Given the description of an element on the screen output the (x, y) to click on. 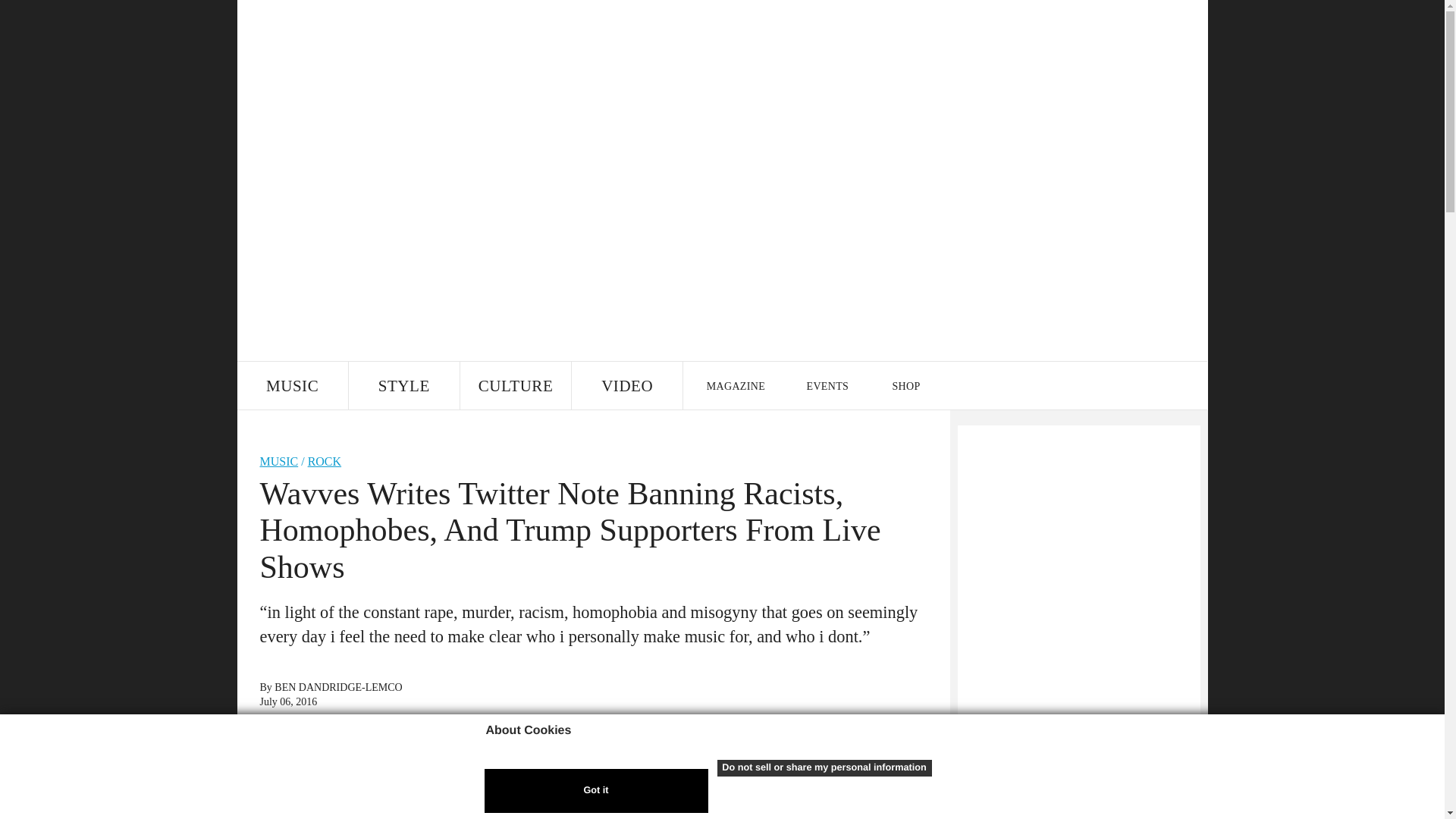
Got it (595, 791)
Do not sell or share my personal information (824, 768)
